Given the description of an element on the screen output the (x, y) to click on. 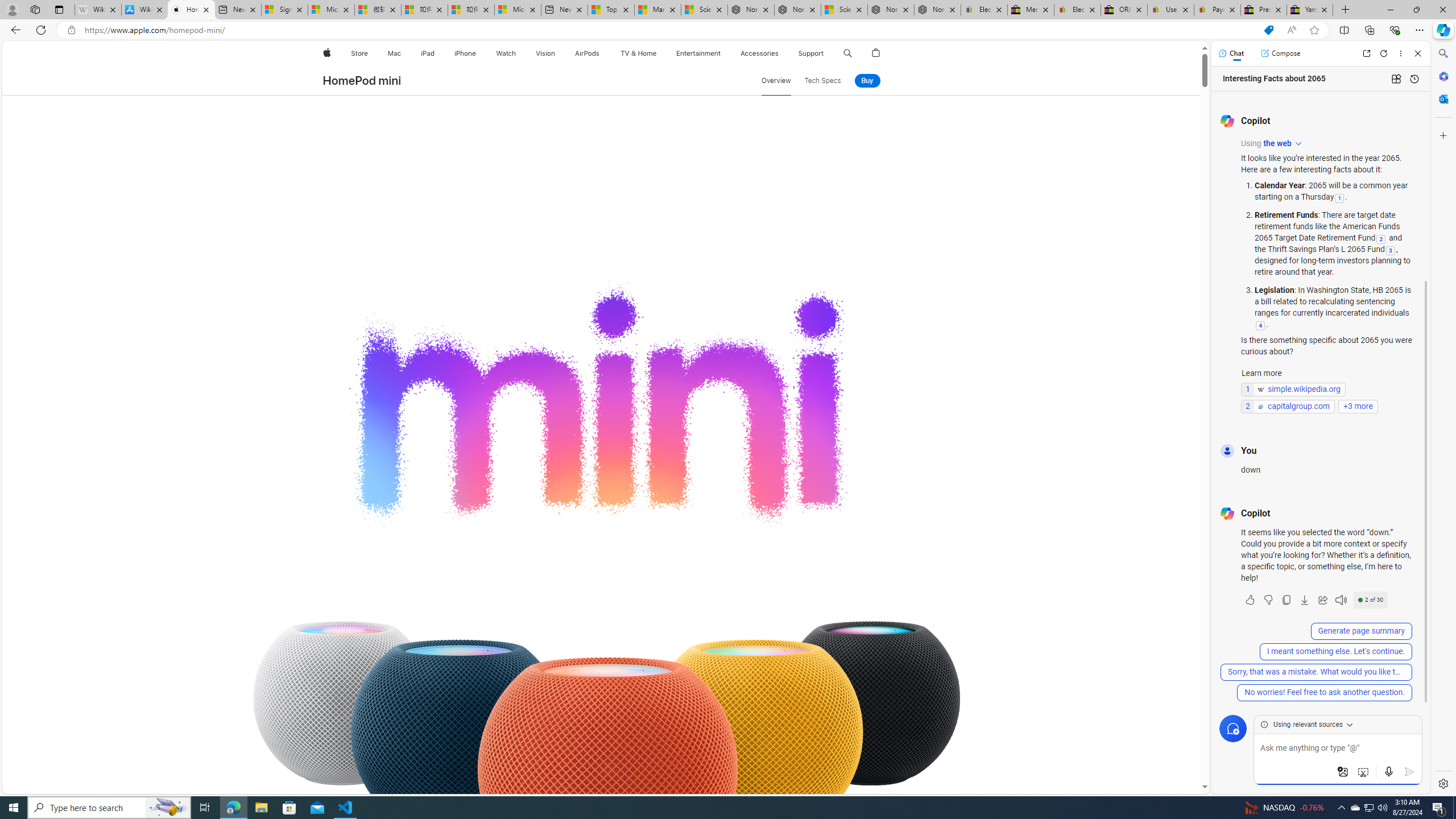
Mac (394, 53)
Store menu (370, 53)
Store (359, 53)
Support (810, 53)
Compose (1280, 52)
Vision (545, 53)
